Given the description of an element on the screen output the (x, y) to click on. 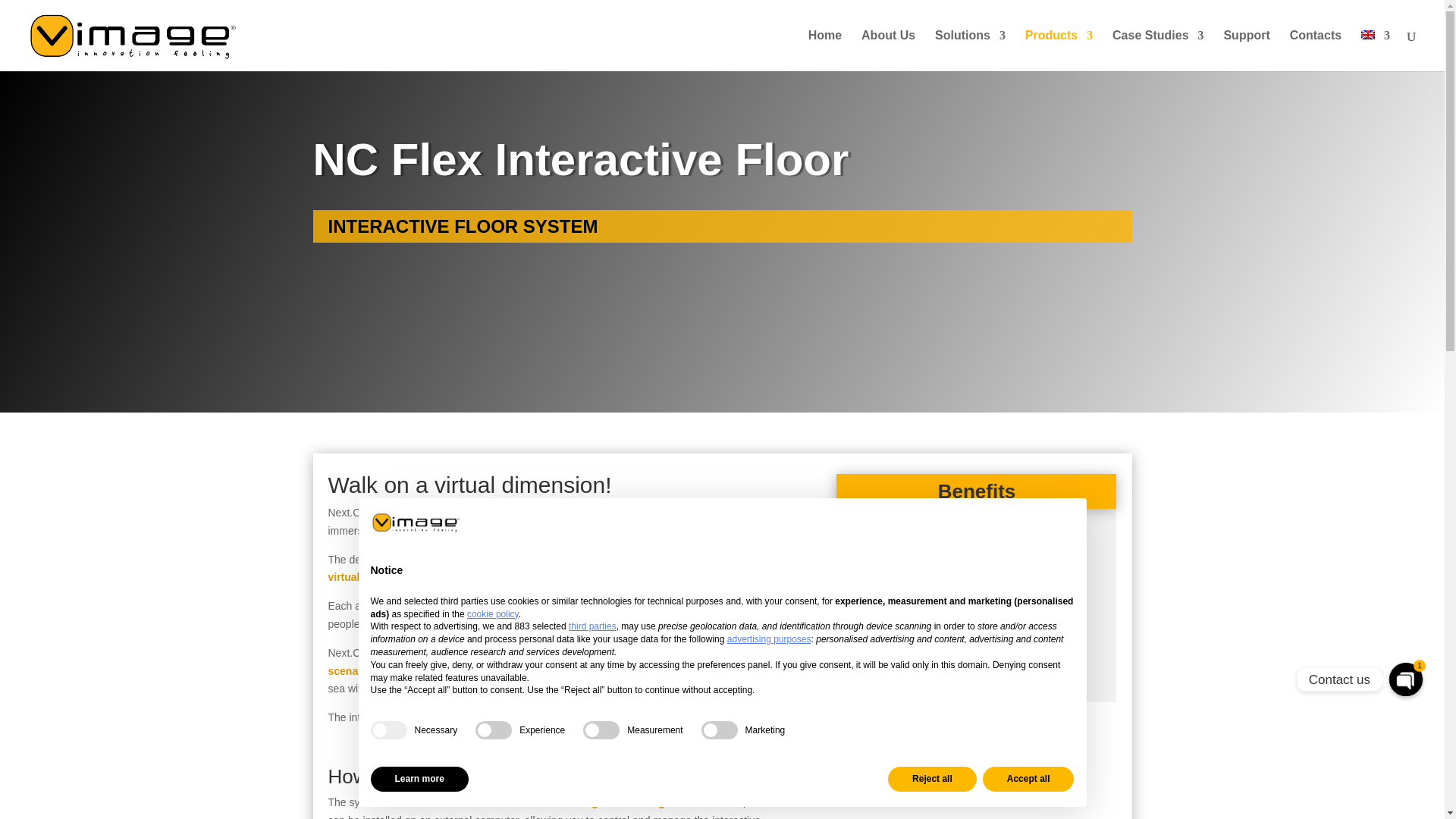
Home (824, 50)
false (494, 730)
true (387, 730)
false (601, 730)
Pavimento Interattivo by Vimage (975, 768)
Solutions (970, 50)
false (719, 730)
Products (1059, 50)
About Us (888, 50)
